Given the description of an element on the screen output the (x, y) to click on. 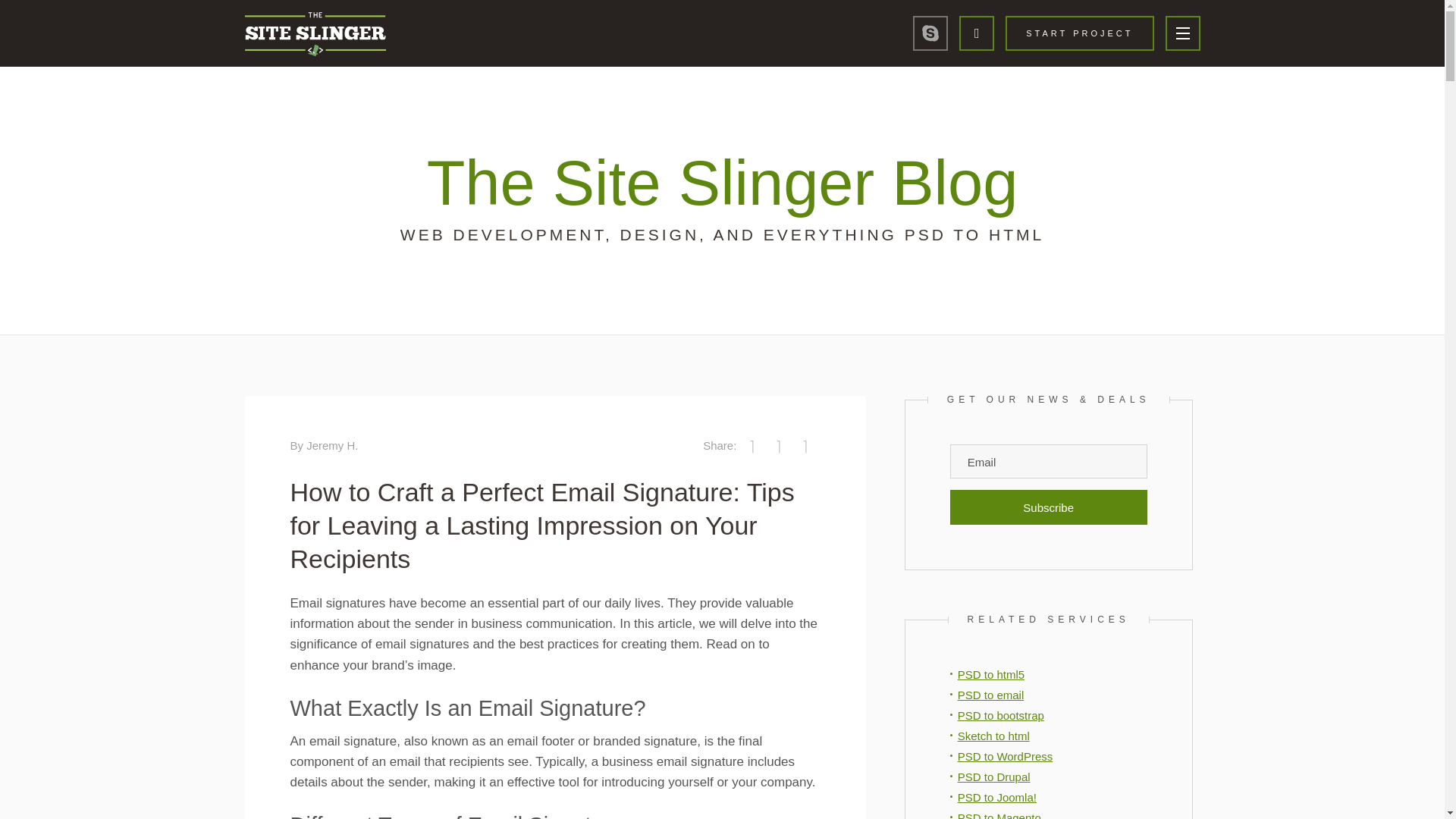
Subscribe (1048, 507)
PSD to Drupal (994, 776)
PSD to Joomla! (997, 797)
Subscribe (1048, 507)
PSD to bootstrap (1000, 715)
PSD to Magento (999, 815)
User (976, 32)
START PROJECT (1079, 32)
PSD to email (991, 694)
PSD to html5 (991, 674)
